Given the description of an element on the screen output the (x, y) to click on. 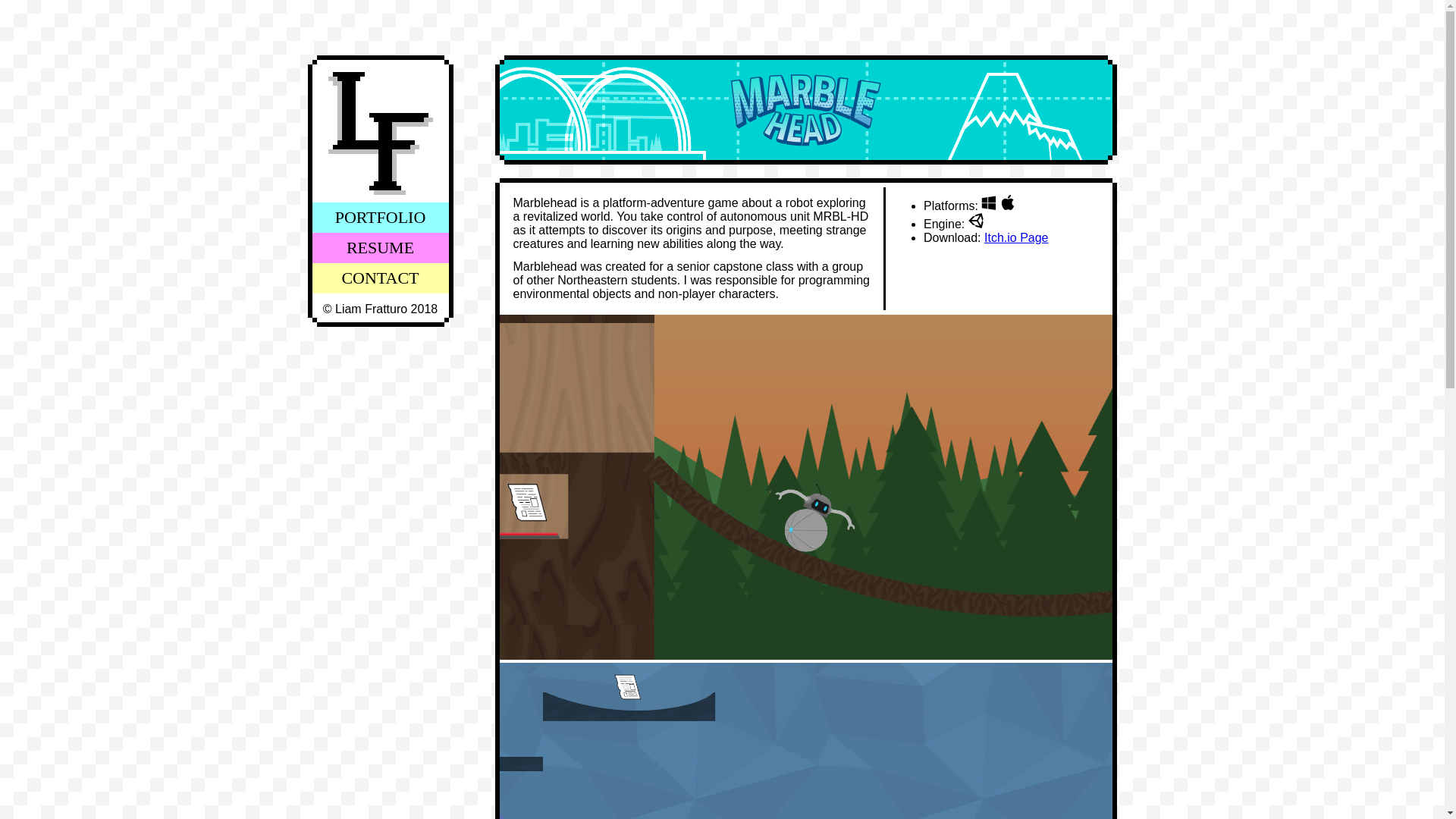
Windows (988, 201)
PORTFOLIO (380, 217)
RESUME (380, 247)
Unity (976, 220)
Mac (1007, 201)
CONTACT (380, 277)
Itch.io Page (1016, 237)
